Given the description of an element on the screen output the (x, y) to click on. 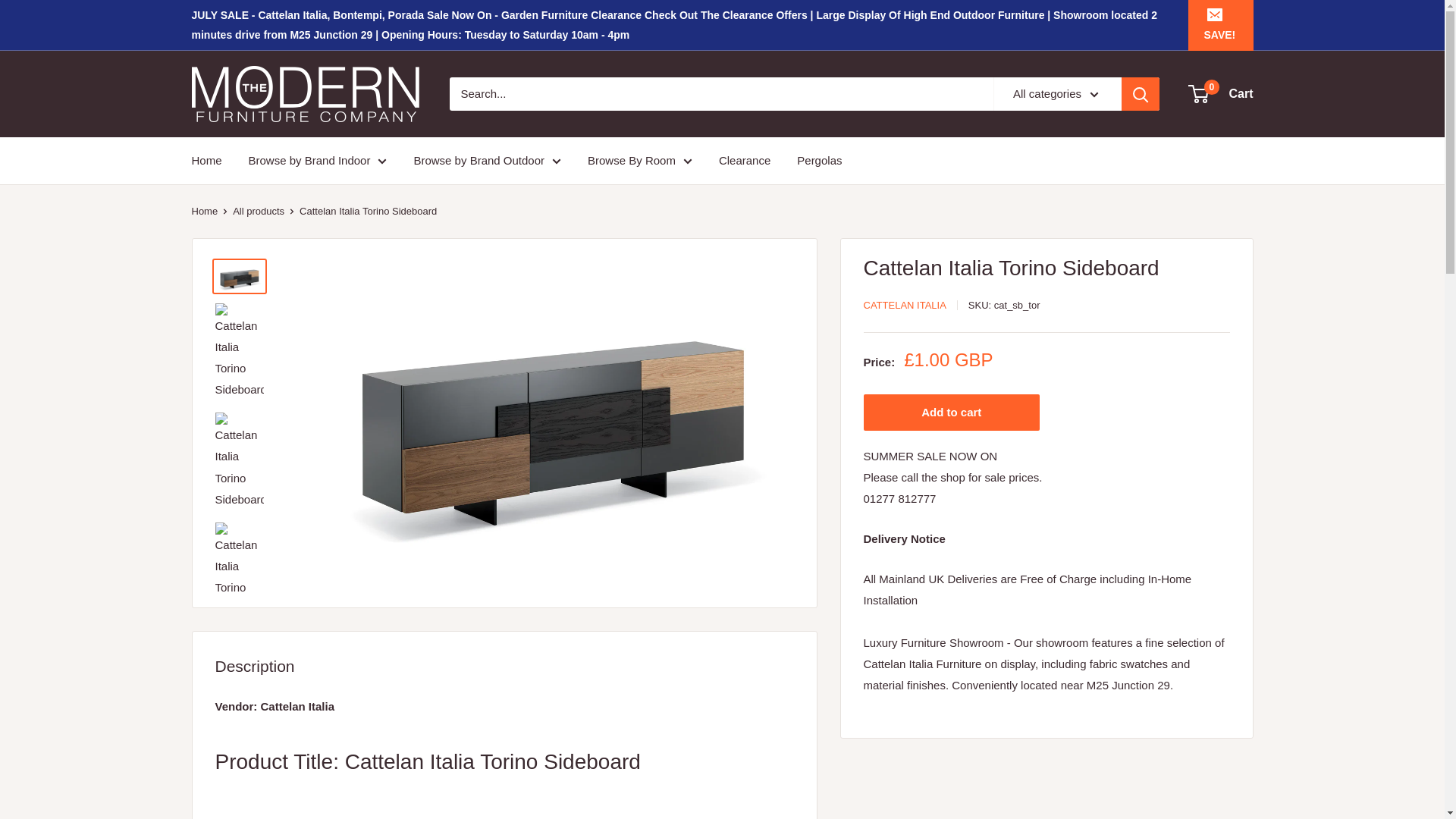
SAVE! (1220, 24)
